Given the description of an element on the screen output the (x, y) to click on. 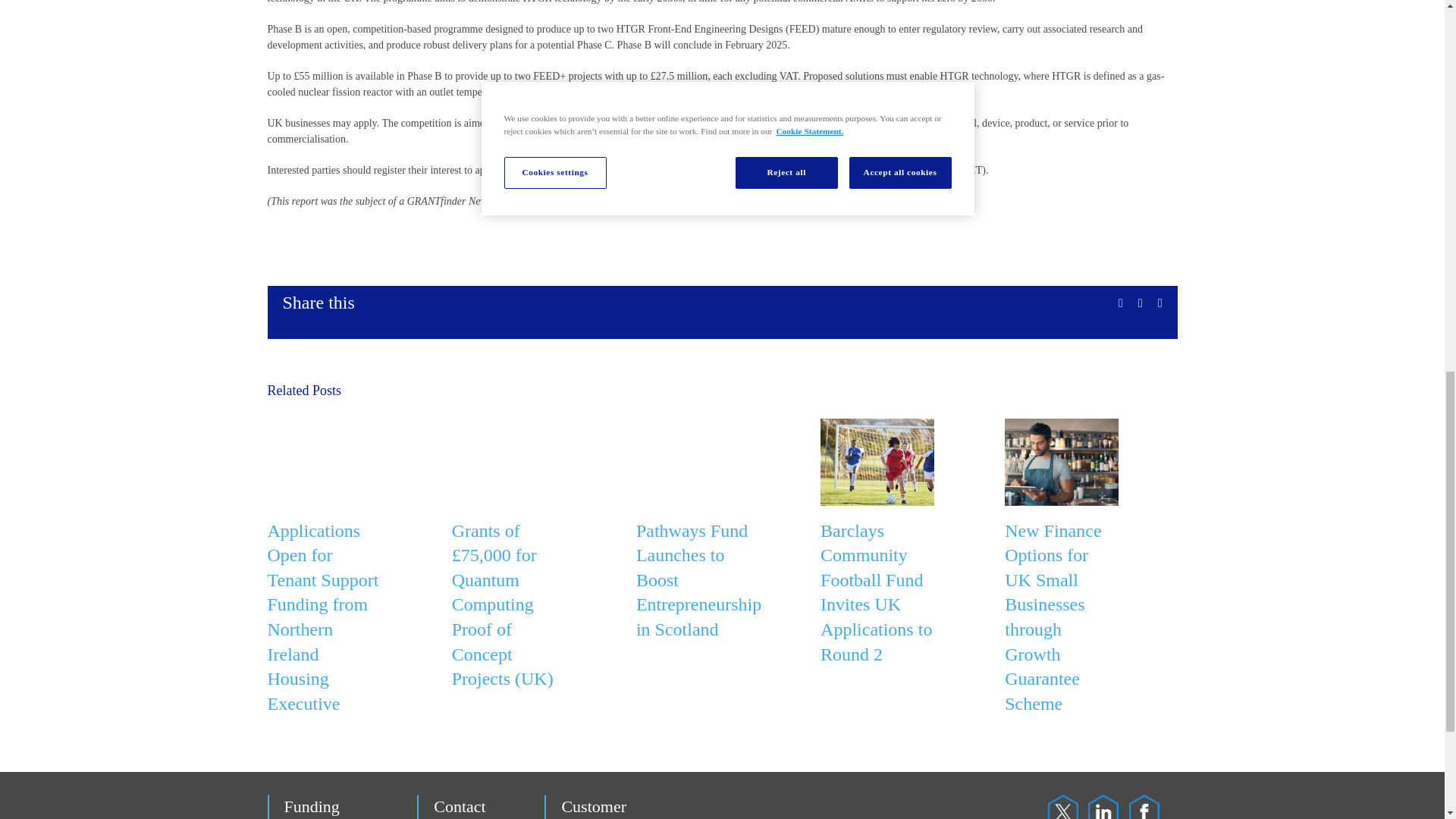
Pathways Fund Launches to Boost Entrepreneurship in Scotland (698, 579)
